Given the description of an element on the screen output the (x, y) to click on. 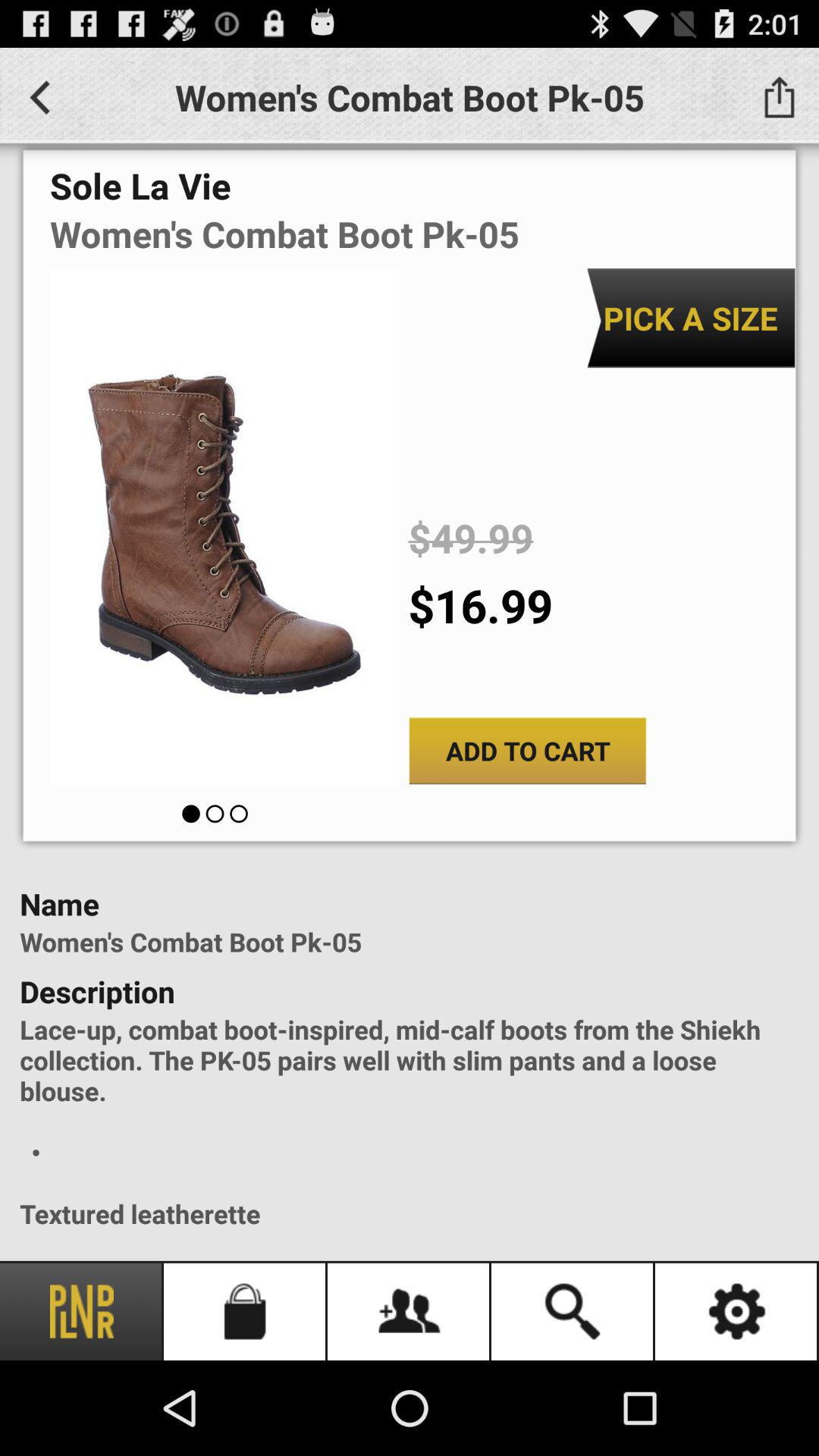
tap icon above $49.99 (690, 317)
